Given the description of an element on the screen output the (x, y) to click on. 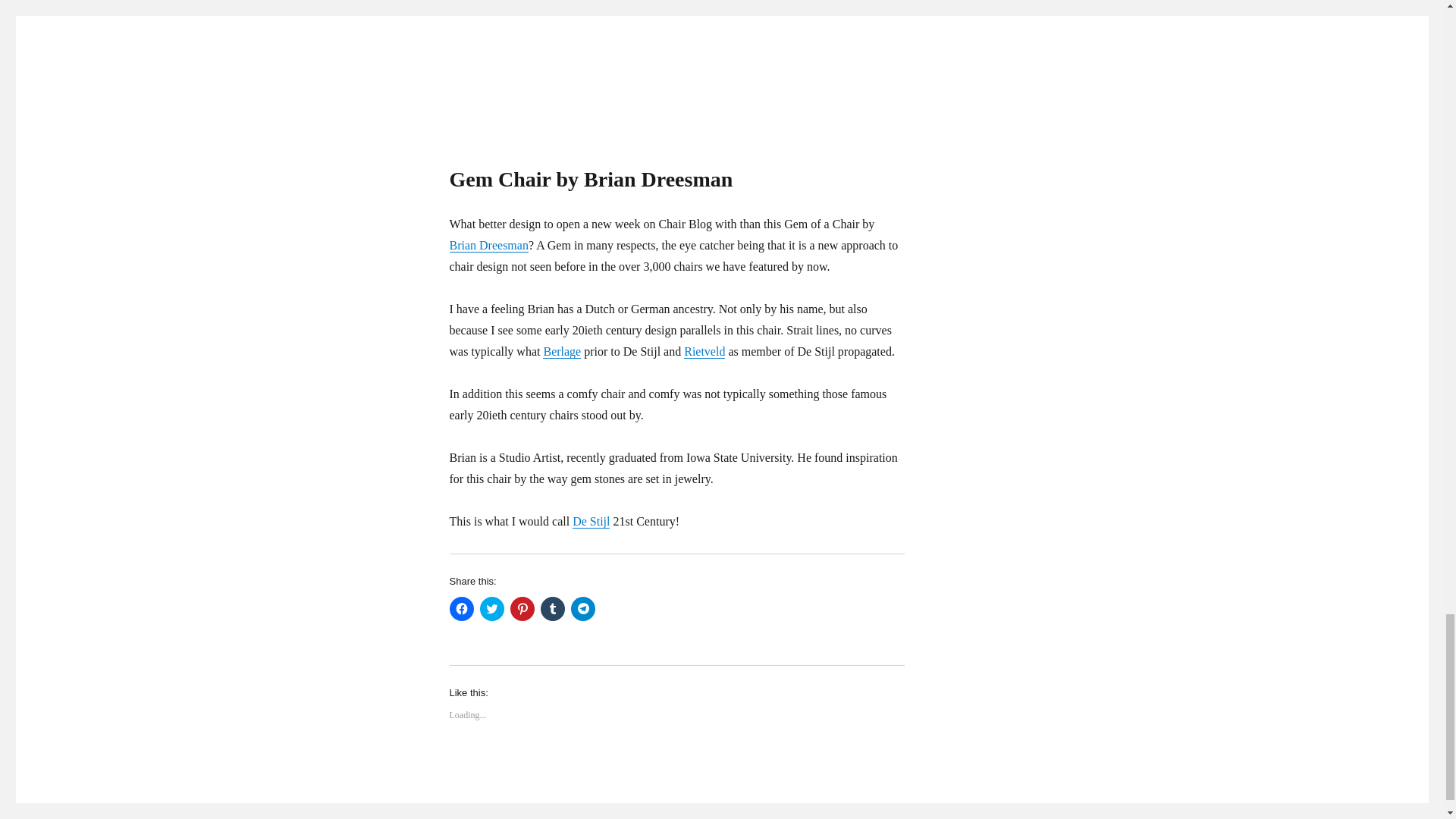
Click to share on Tumblr (552, 608)
Berlage (561, 350)
Gem-Chair-by-Brian-Dreesman-Side-view (676, 61)
De Stijl (591, 521)
Rietveld (704, 350)
Click to share on Twitter (491, 608)
Click to share on Facebook (460, 608)
Click to share on Telegram (582, 608)
Brian Dreesman (487, 245)
Click to share on Pinterest (521, 608)
